Given the description of an element on the screen output the (x, y) to click on. 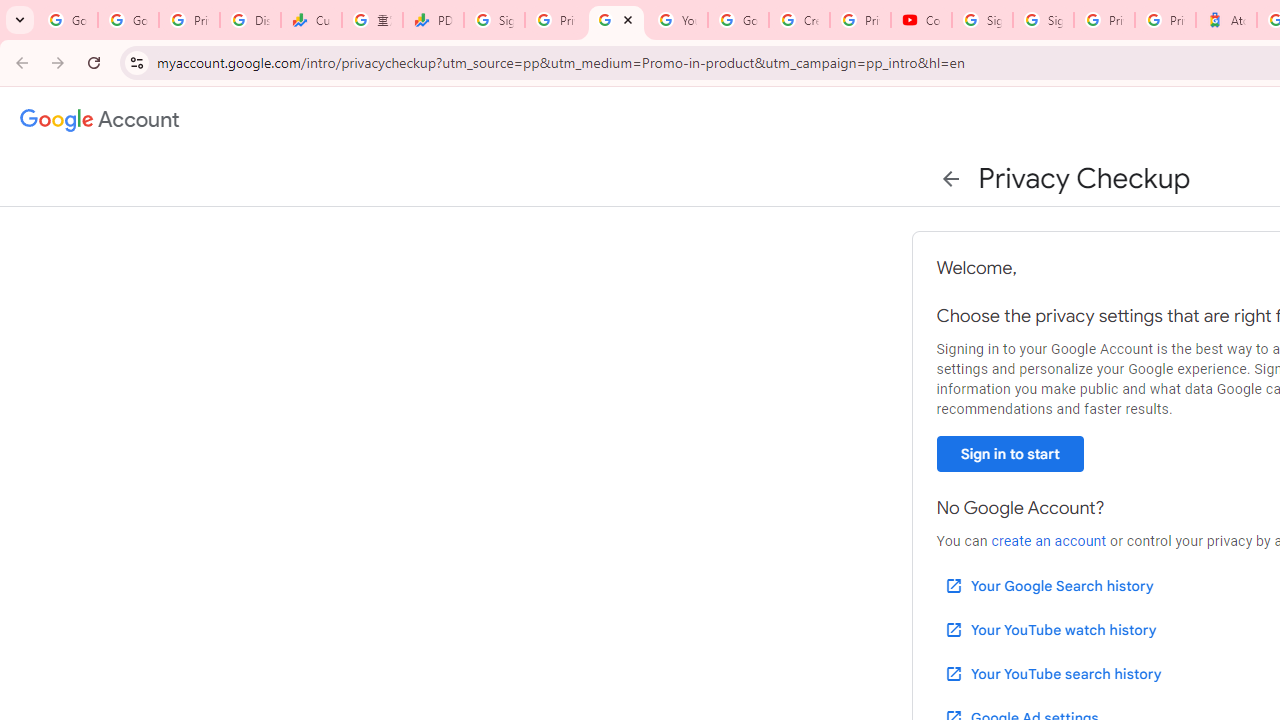
YouTube (676, 20)
Sign in - Google Accounts (1042, 20)
Google Account settings (100, 120)
Currencies - Google Finance (310, 20)
Sign in to start (1009, 454)
Your Google Search history (1048, 586)
create an account (1048, 541)
